Given the description of an element on the screen output the (x, y) to click on. 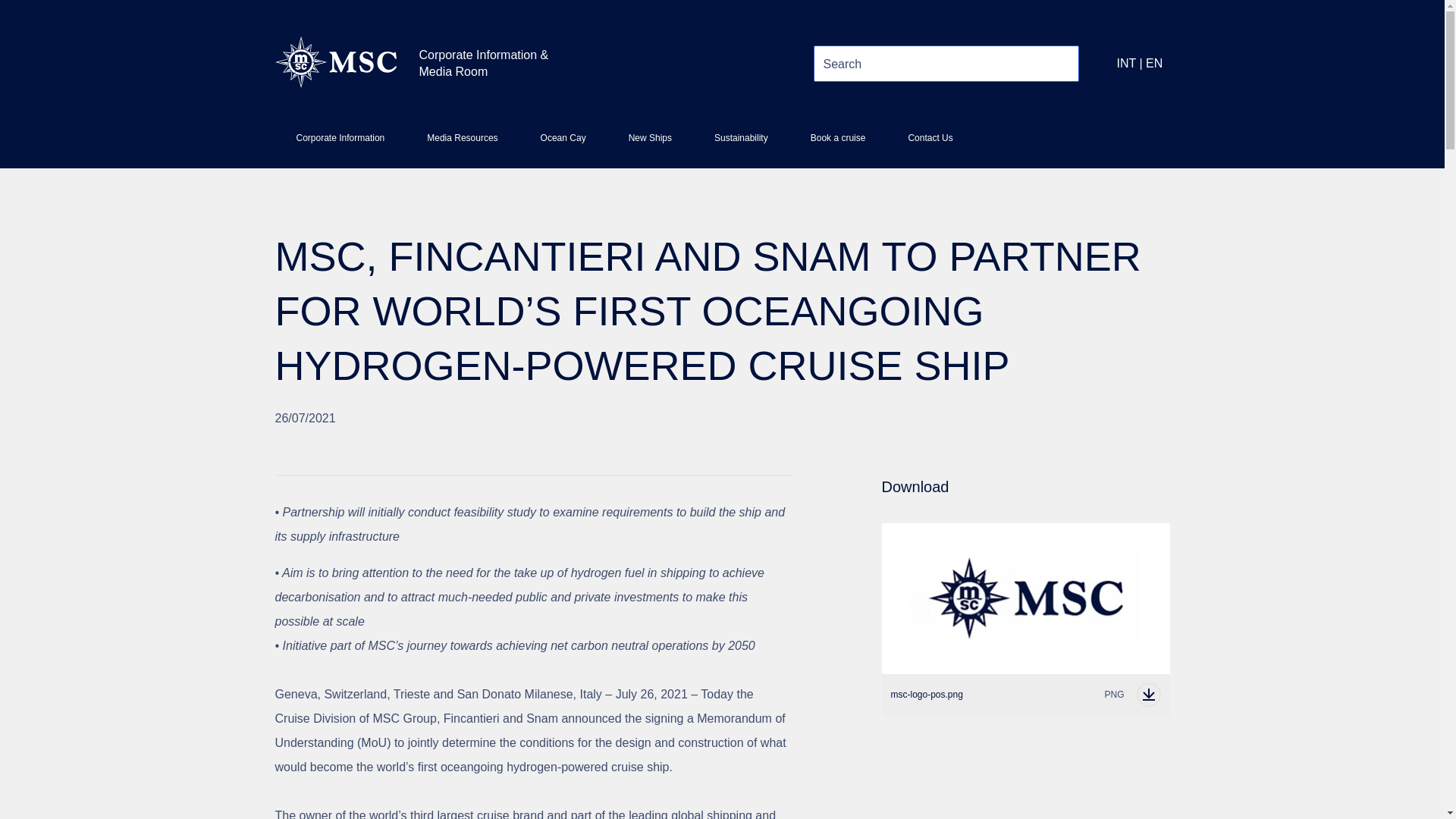
New Ships (650, 143)
Corporate Information (1024, 694)
Book a cruise (340, 143)
Ocean Cay (837, 143)
Contact Us (563, 143)
Sustainability (930, 143)
Media Resources (741, 143)
